Given the description of an element on the screen output the (x, y) to click on. 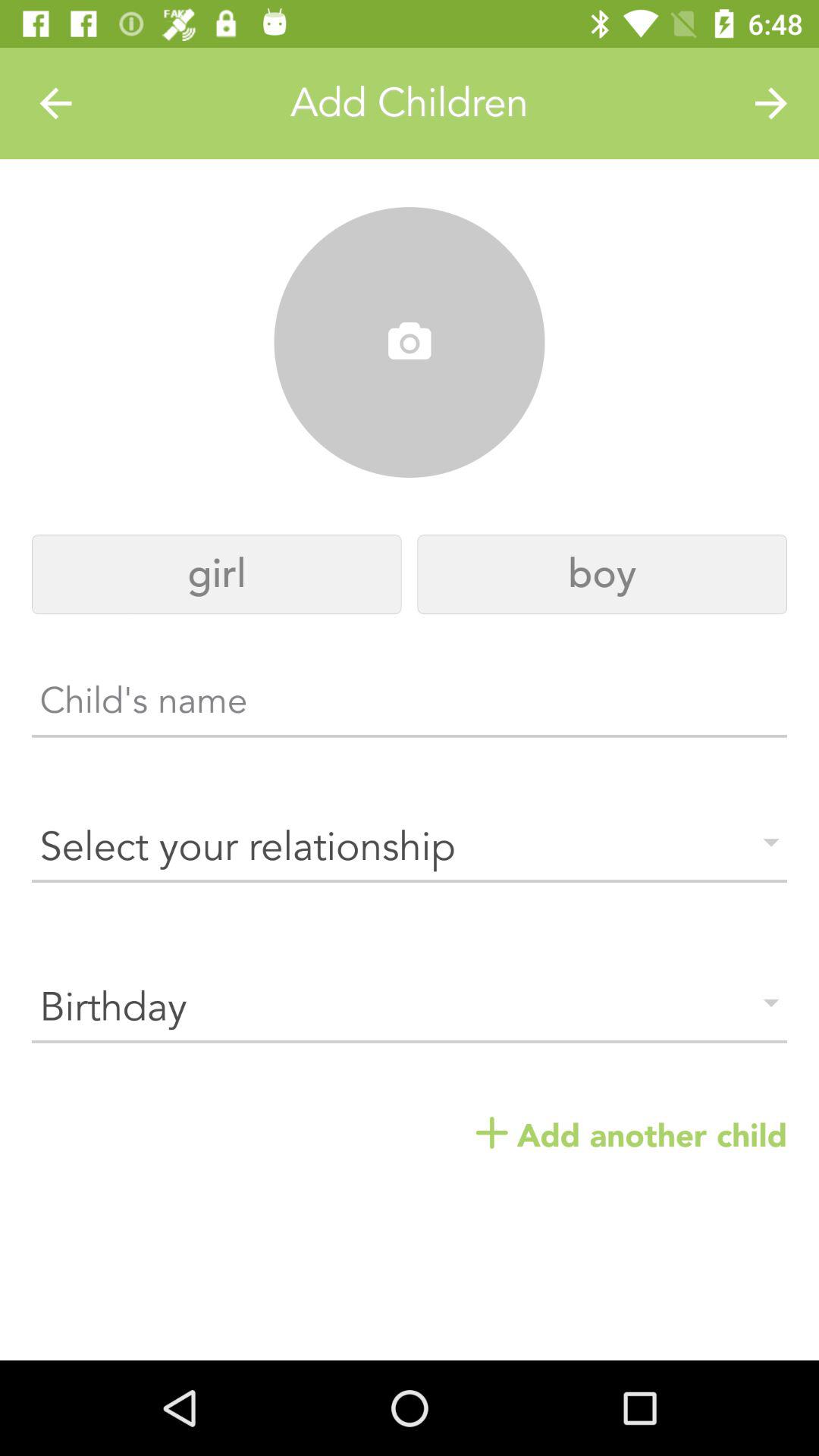
launch the icon below the add children icon (409, 342)
